Given the description of an element on the screen output the (x, y) to click on. 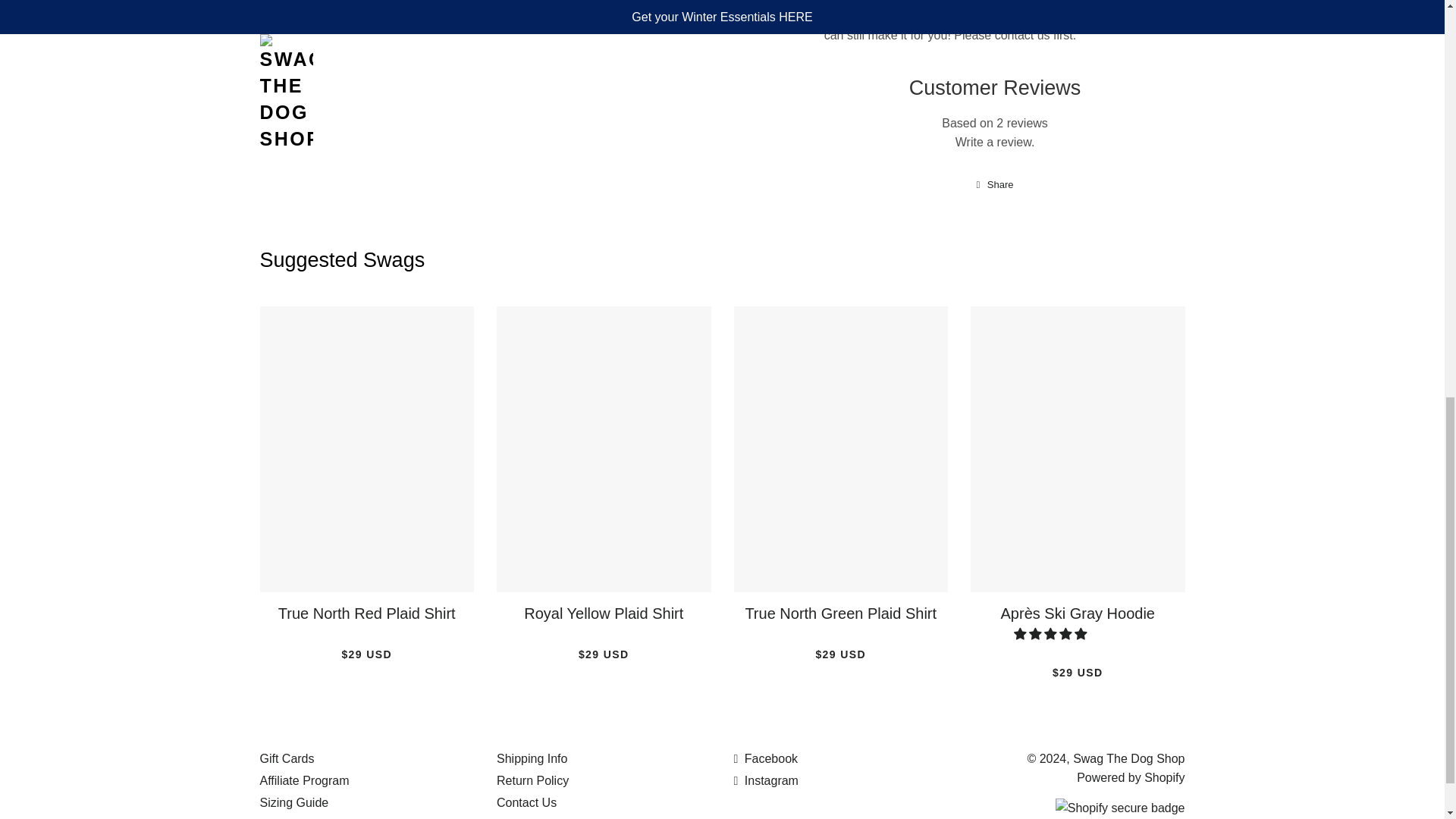
Swag The Dog Shop on Facebook (765, 758)
Swag The Dog Shop on Instagram (765, 780)
This online store is secured by Shopify (1120, 807)
Share on Facebook (995, 184)
